Given the description of an element on the screen output the (x, y) to click on. 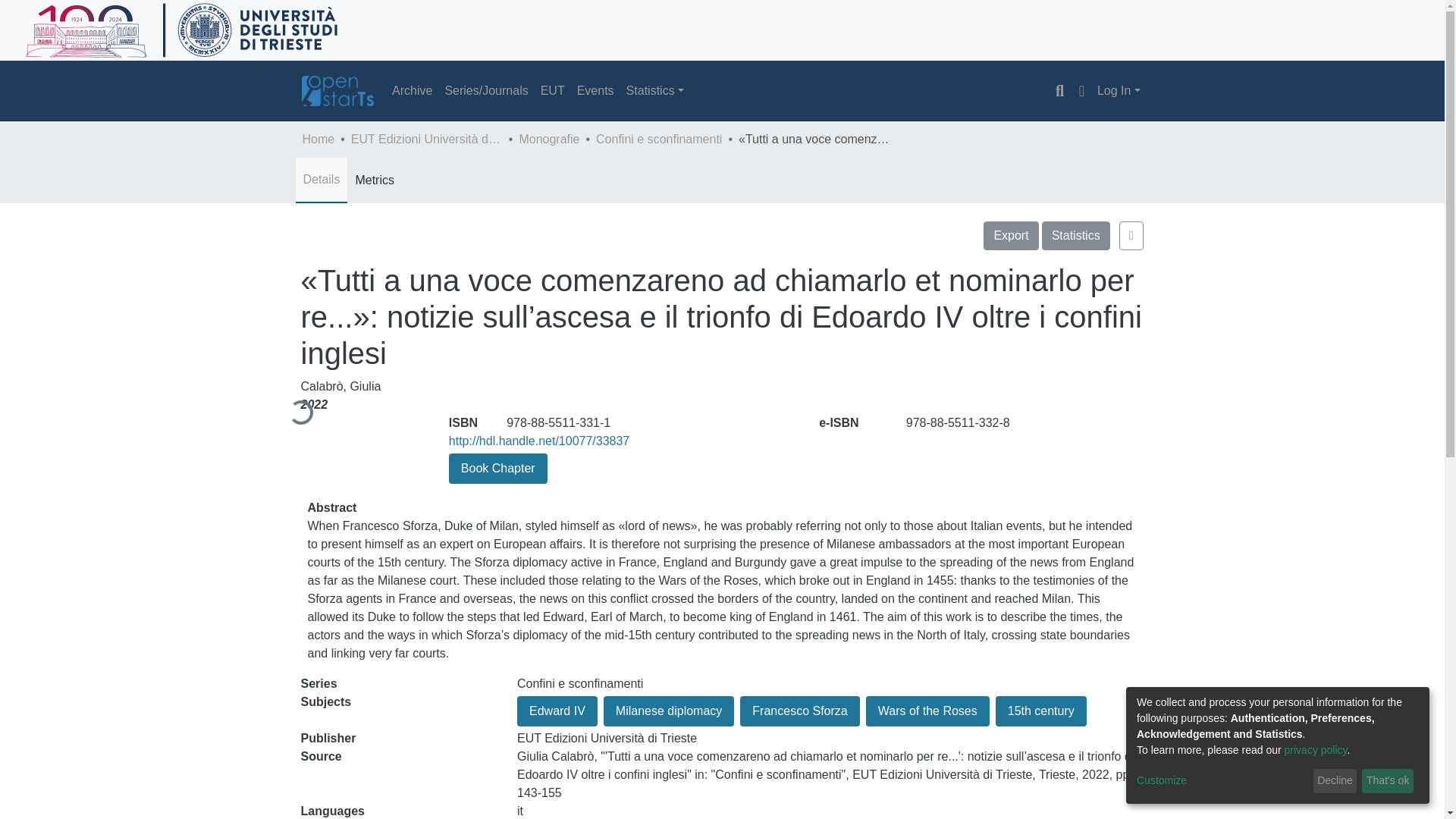
Metrics (374, 180)
Events (595, 91)
Milanese diplomacy (669, 711)
EUT (552, 91)
Francesco Sforza (799, 711)
Log In (1118, 90)
Archive (411, 91)
Book Chapter (497, 468)
Statistics (1075, 235)
Statistics (655, 91)
Details (321, 179)
Archive (411, 91)
EUT (552, 91)
Monografie (548, 139)
Events (595, 91)
